Given the description of an element on the screen output the (x, y) to click on. 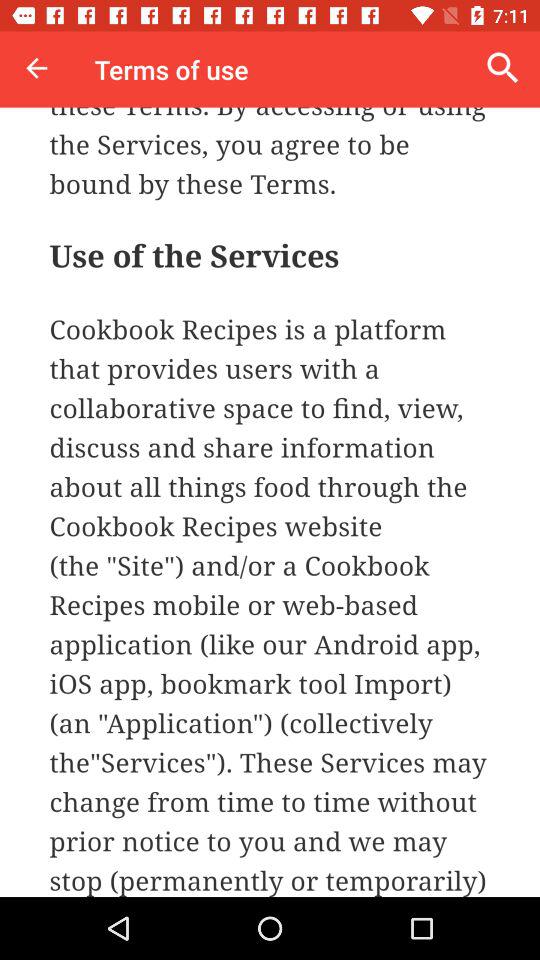
app window (270, 502)
